Given the description of an element on the screen output the (x, y) to click on. 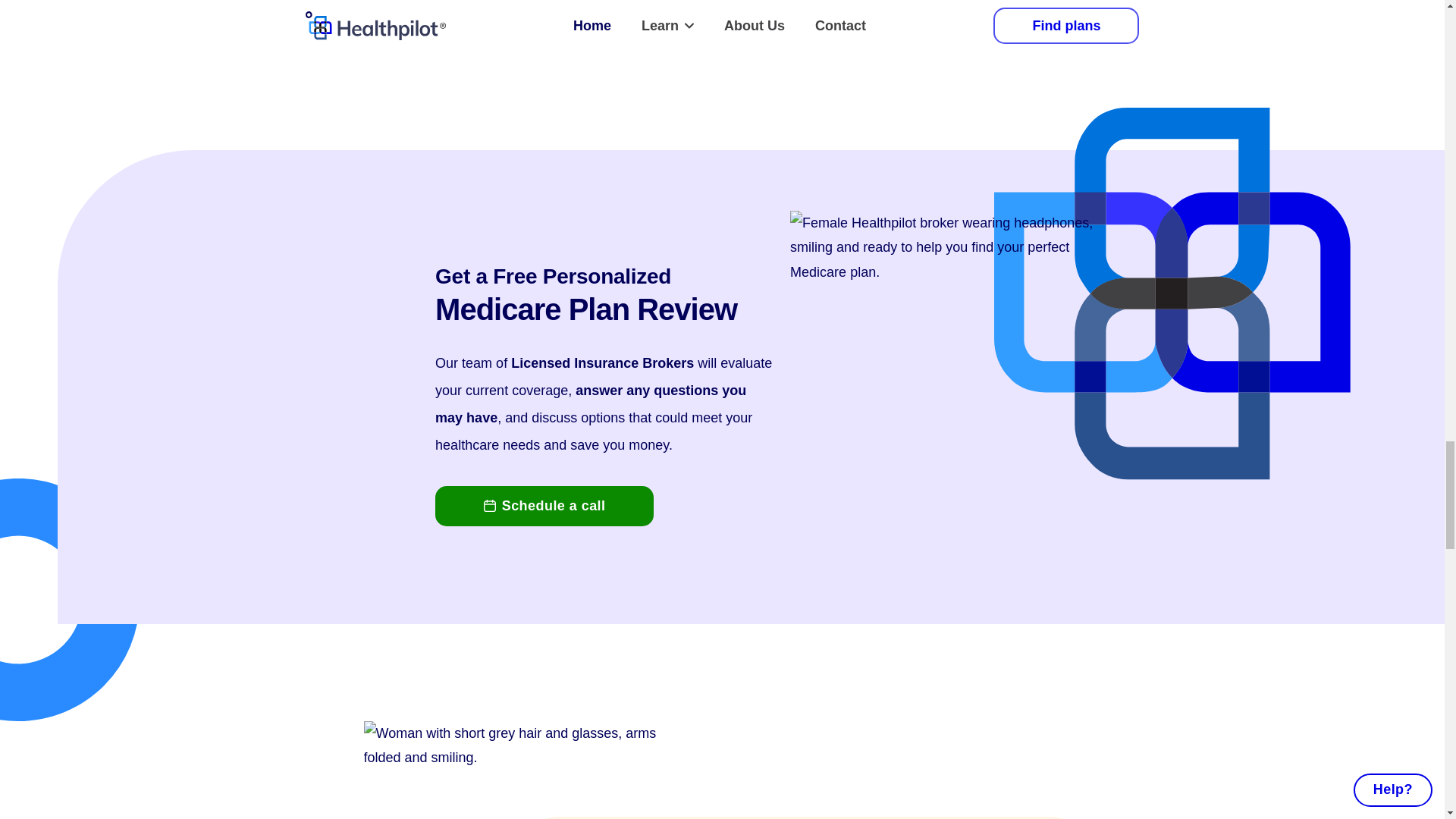
Schedule a call (544, 505)
